Given the description of an element on the screen output the (x, y) to click on. 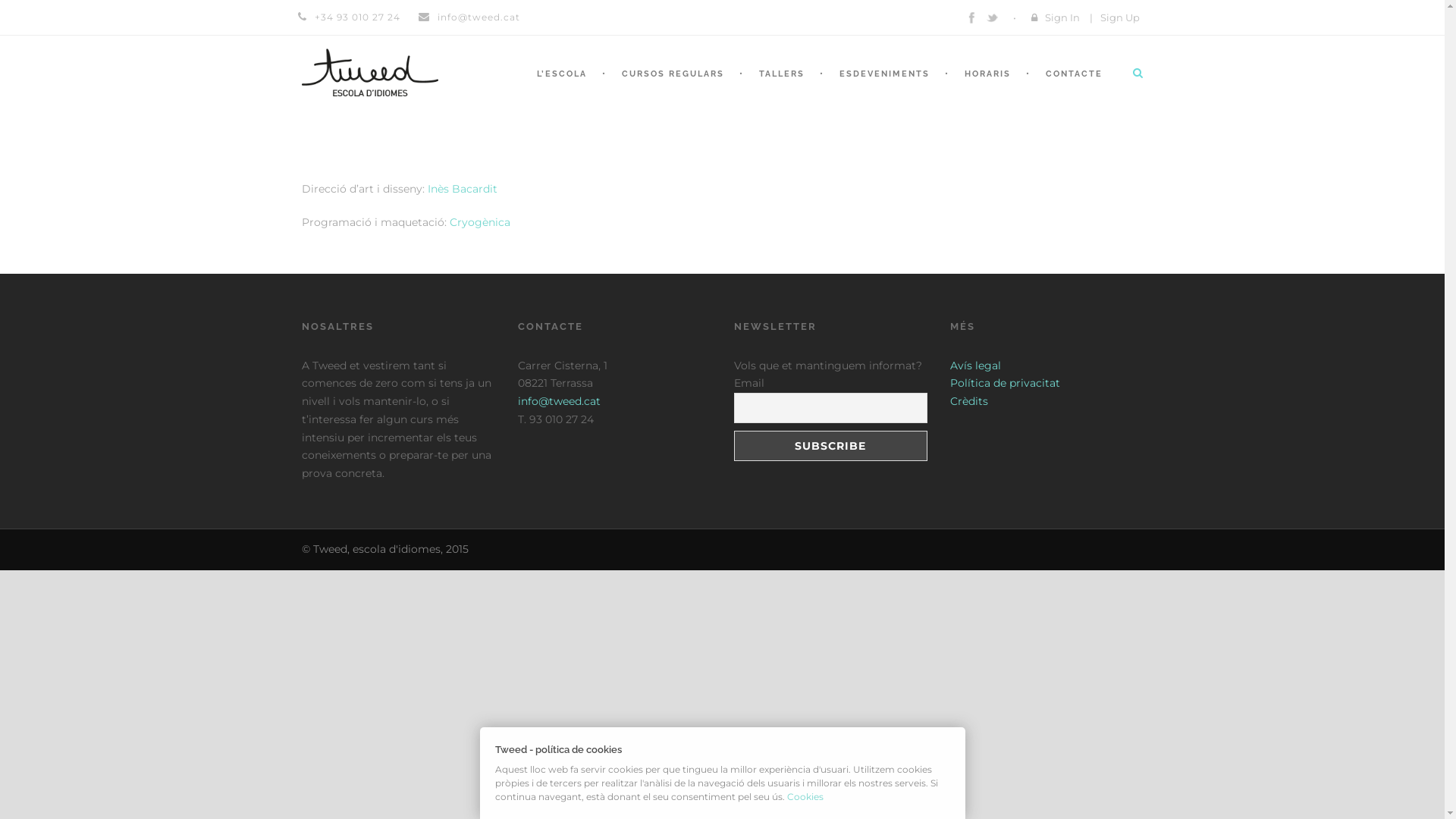
CURSOS REGULARS Element type: text (670, 90)
Sign In Element type: text (1061, 17)
info@tweed.cat Element type: text (558, 400)
ESDEVENIMENTS Element type: text (881, 90)
Subscribe Element type: text (830, 445)
HORARIS Element type: text (985, 90)
Cookies Element type: text (805, 796)
CONTACTE Element type: text (1071, 90)
TALLERS Element type: text (778, 90)
Sign Up Element type: text (1119, 17)
